Given the description of an element on the screen output the (x, y) to click on. 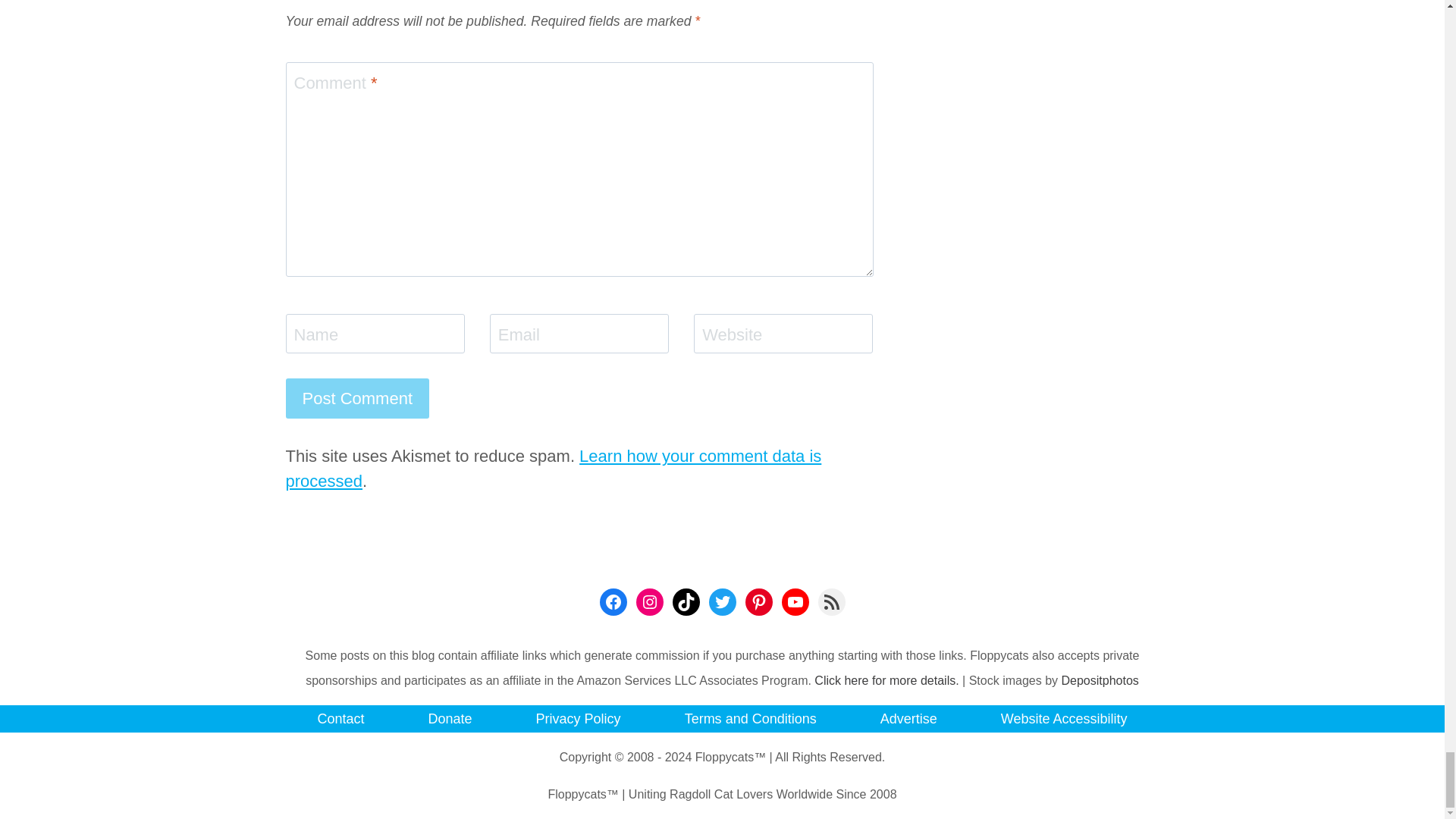
Post Comment (357, 398)
